Given the description of an element on the screen output the (x, y) to click on. 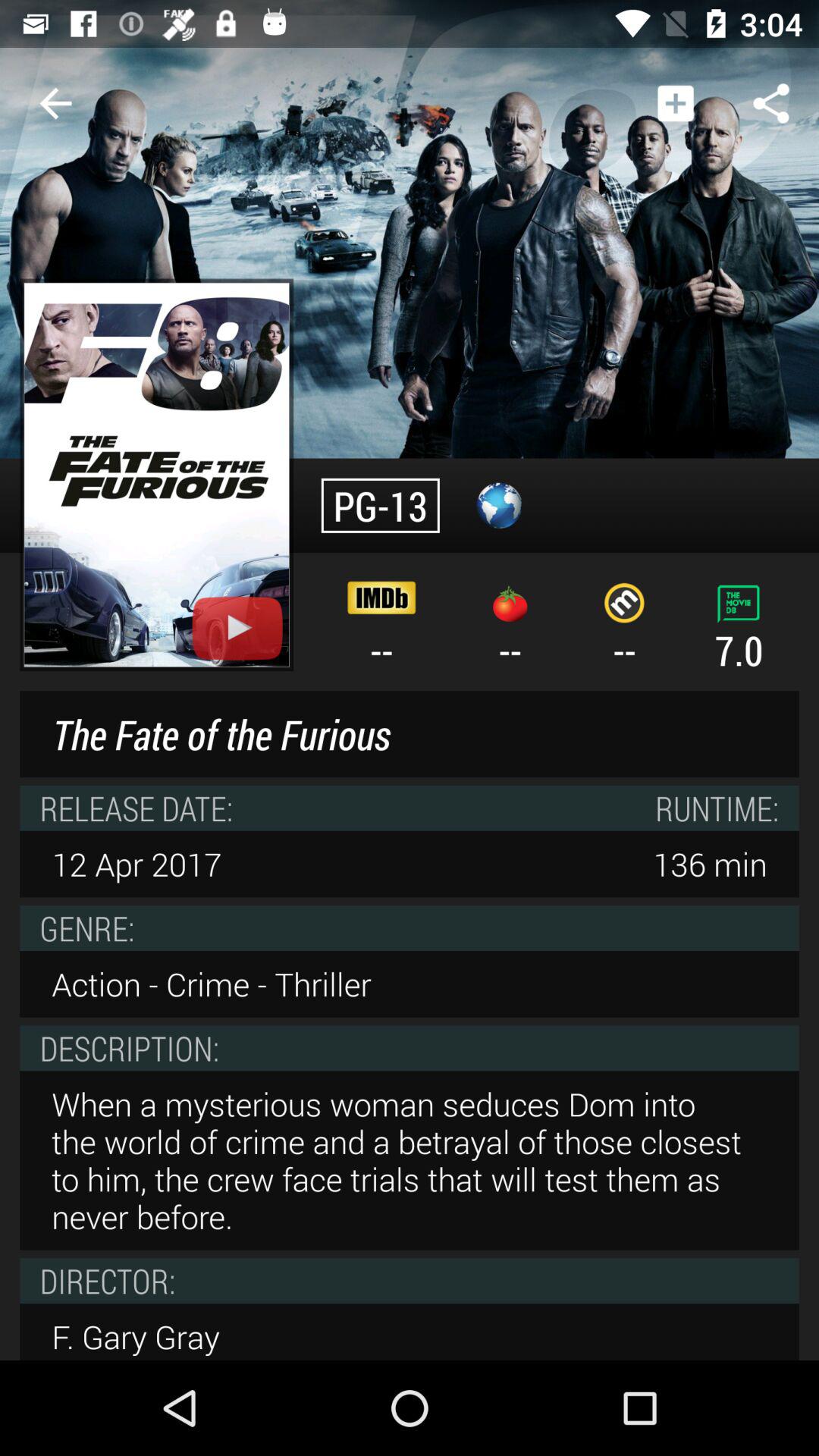
plays trailer (236, 628)
